Given the description of an element on the screen output the (x, y) to click on. 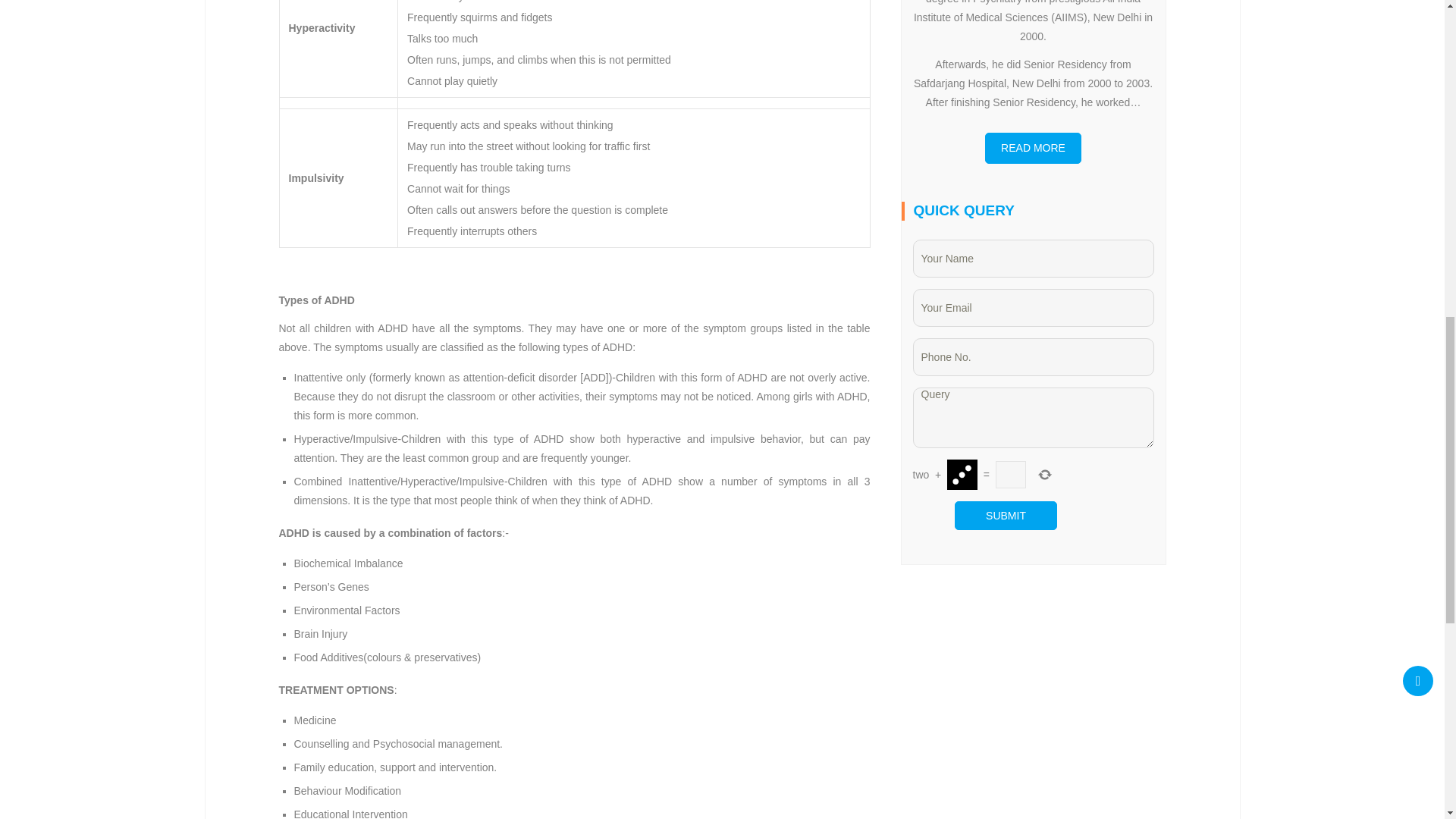
Submit (1006, 515)
